Given the description of an element on the screen output the (x, y) to click on. 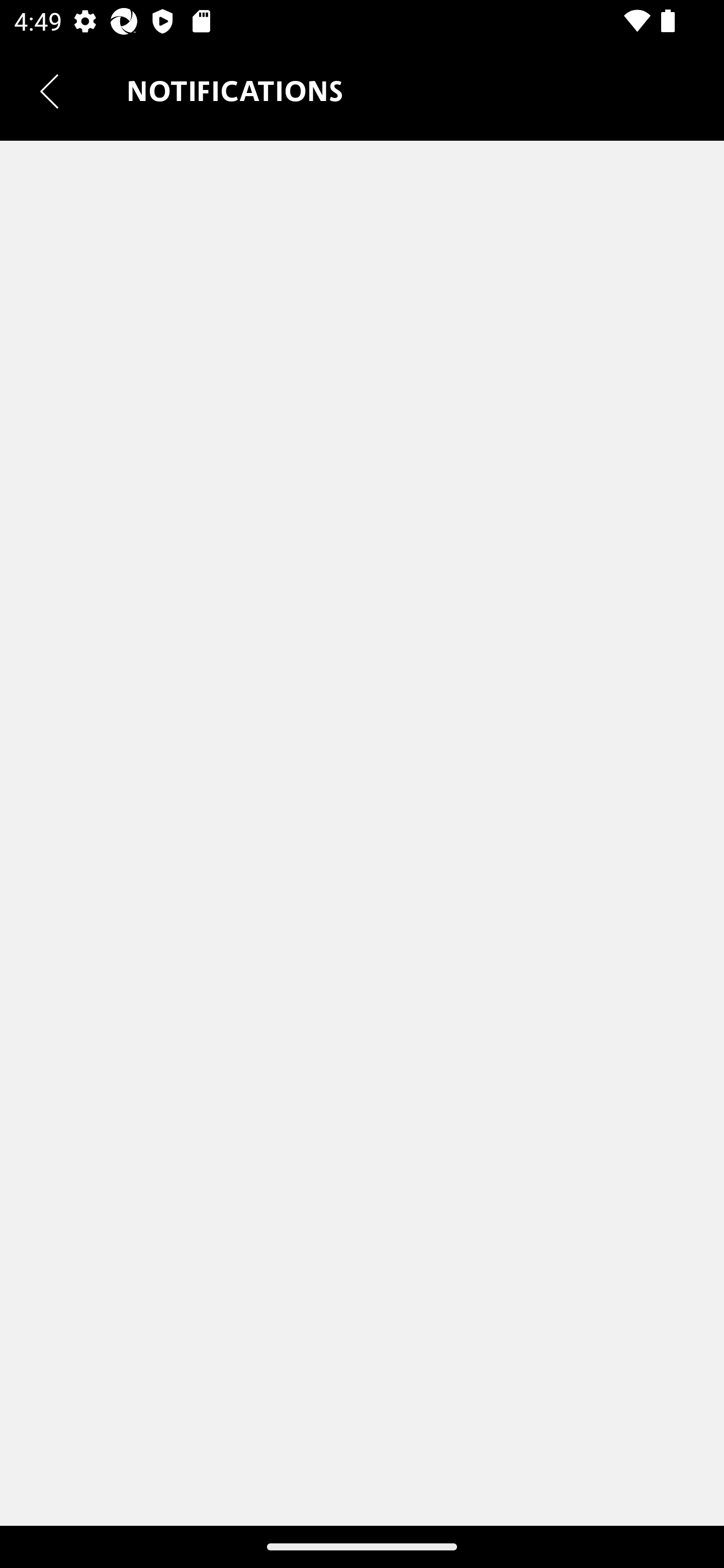
Navigate up (49, 91)
